Given the description of an element on the screen output the (x, y) to click on. 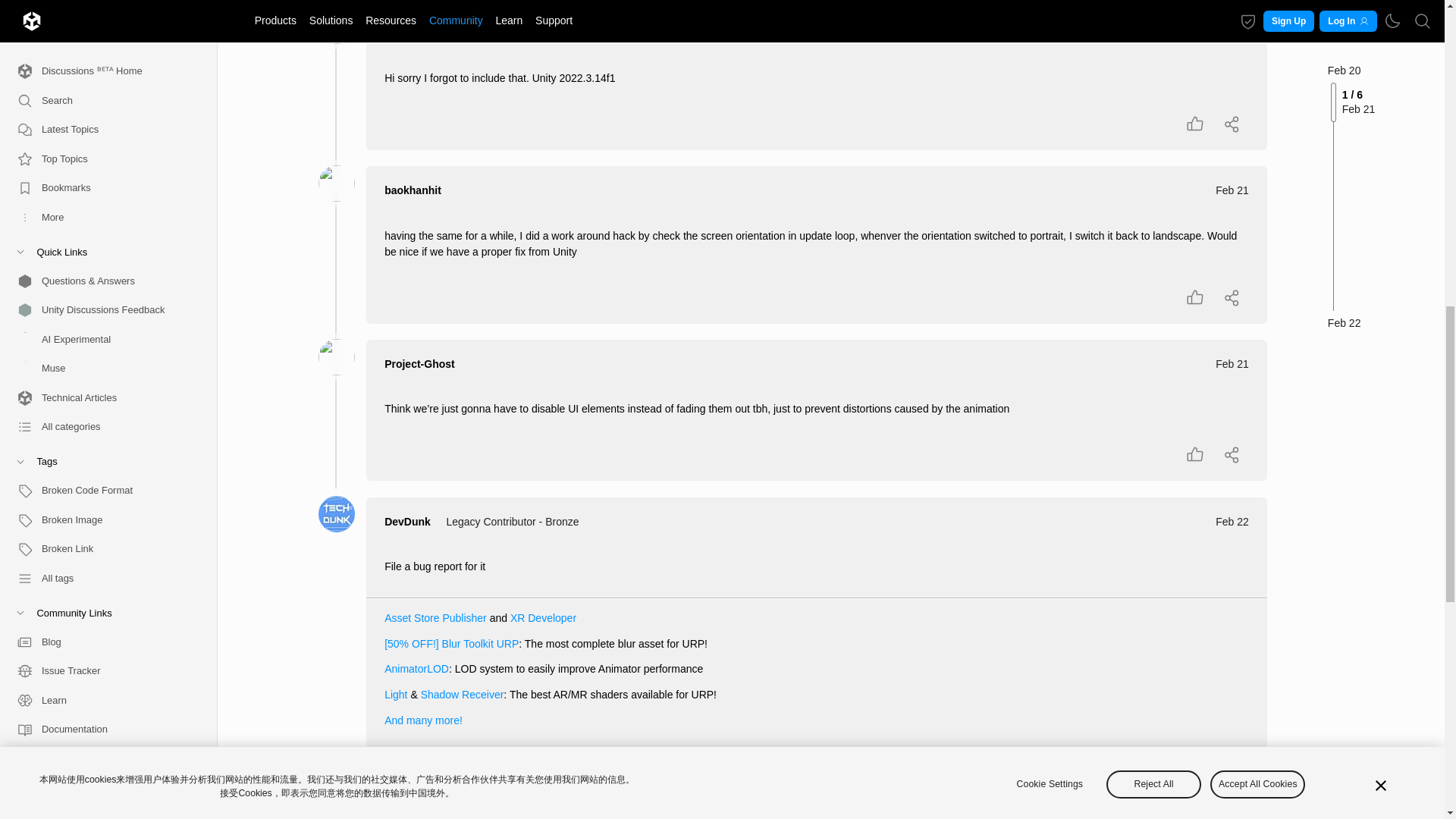
X (102, 231)
Twitch (102, 319)
Unity Pulse (102, 27)
Creator Spotlight (102, 85)
LinkedIn (102, 173)
Advocates (102, 6)
Made with Unity (102, 114)
Discord (102, 261)
Events (102, 56)
YouTube (102, 202)
